Given the description of an element on the screen output the (x, y) to click on. 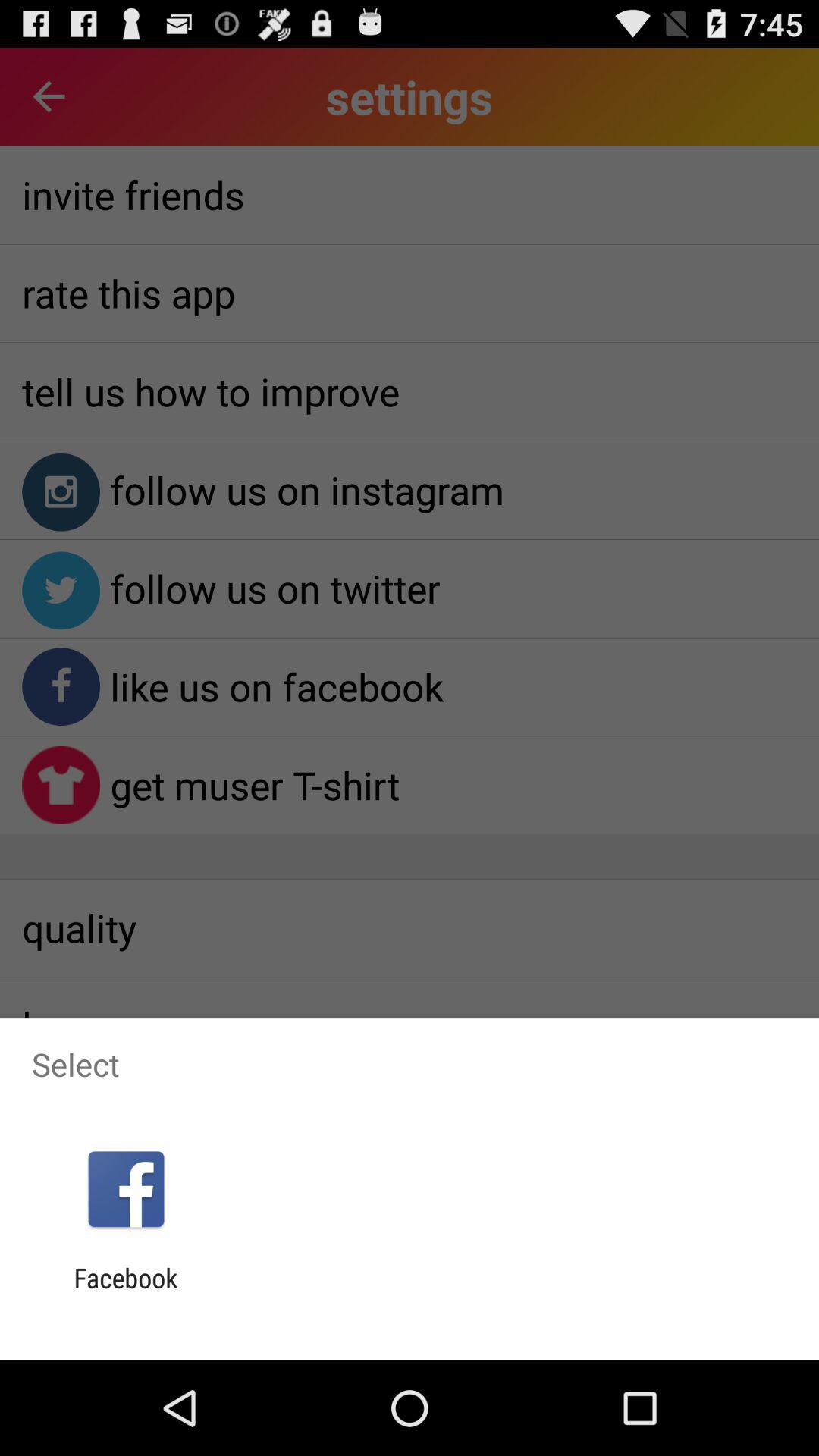
launch item above the facebook (126, 1189)
